Given the description of an element on the screen output the (x, y) to click on. 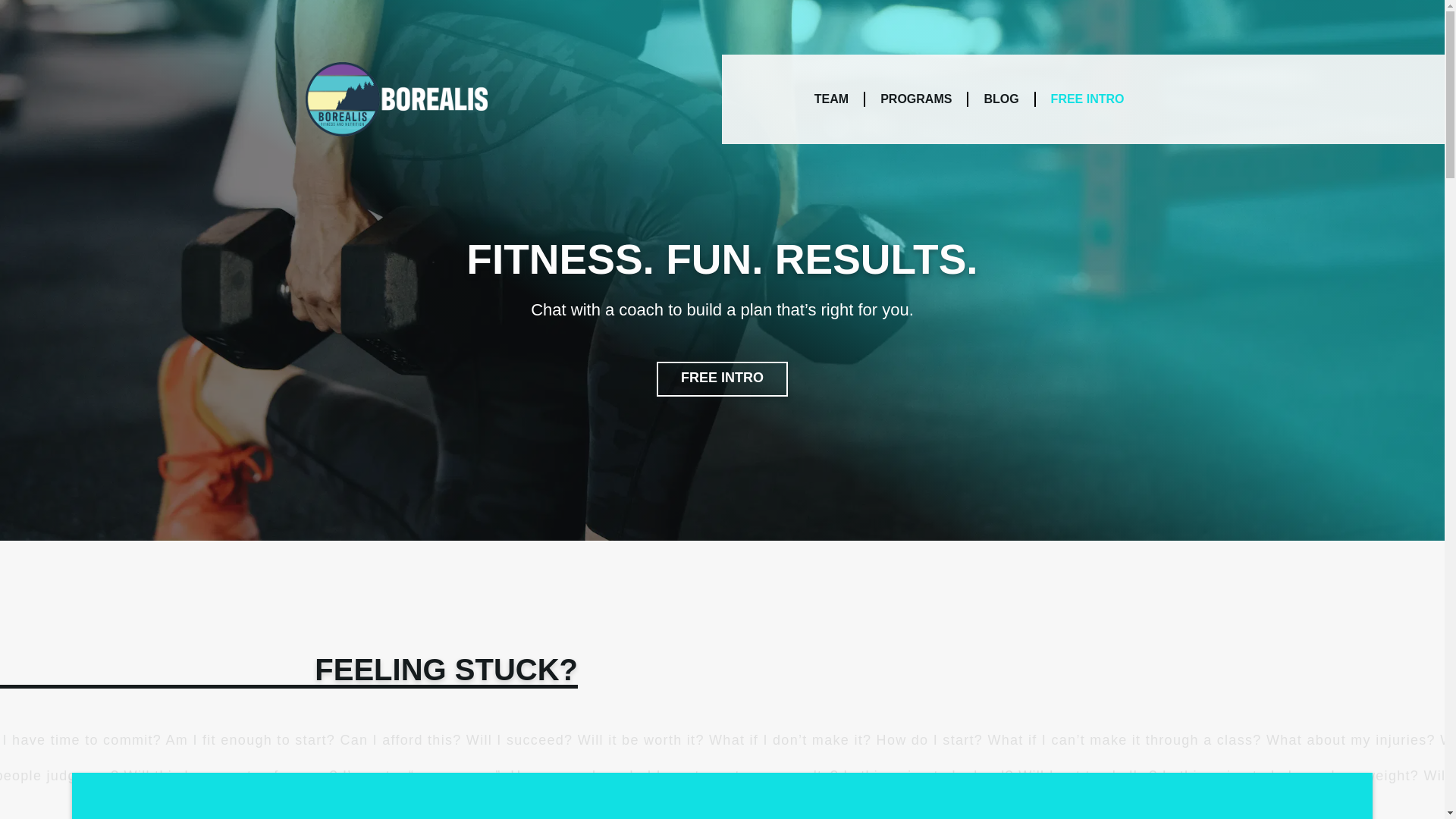
PROGRAMS Element type: text (924, 98)
TEAM Element type: text (839, 98)
FREE INTRO Element type: text (721, 378)
FREE INTRO Element type: text (1095, 98)
BLOG Element type: text (1009, 98)
